Given the description of an element on the screen output the (x, y) to click on. 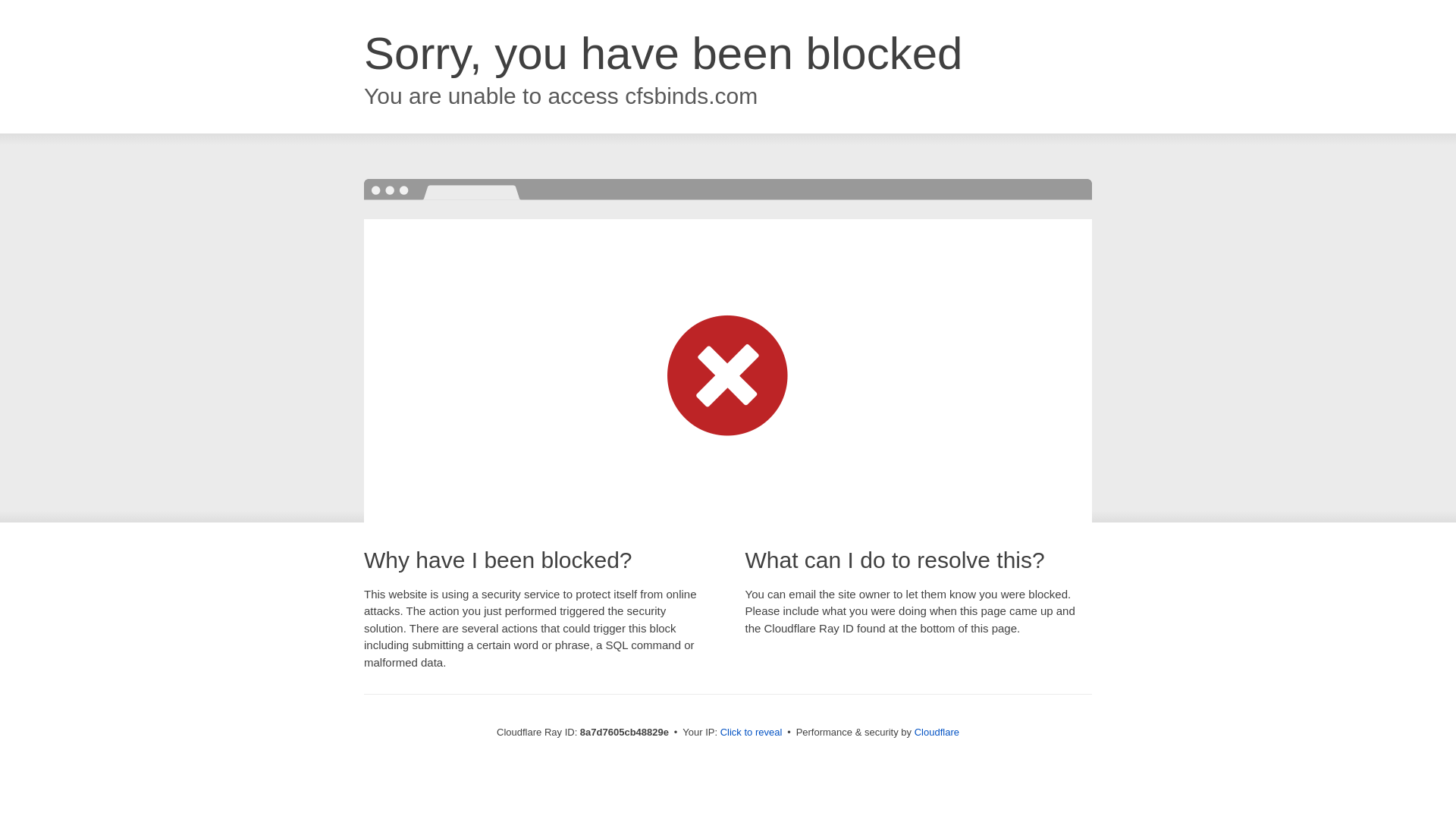
Cloudflare (936, 731)
Click to reveal (751, 732)
